Given the description of an element on the screen output the (x, y) to click on. 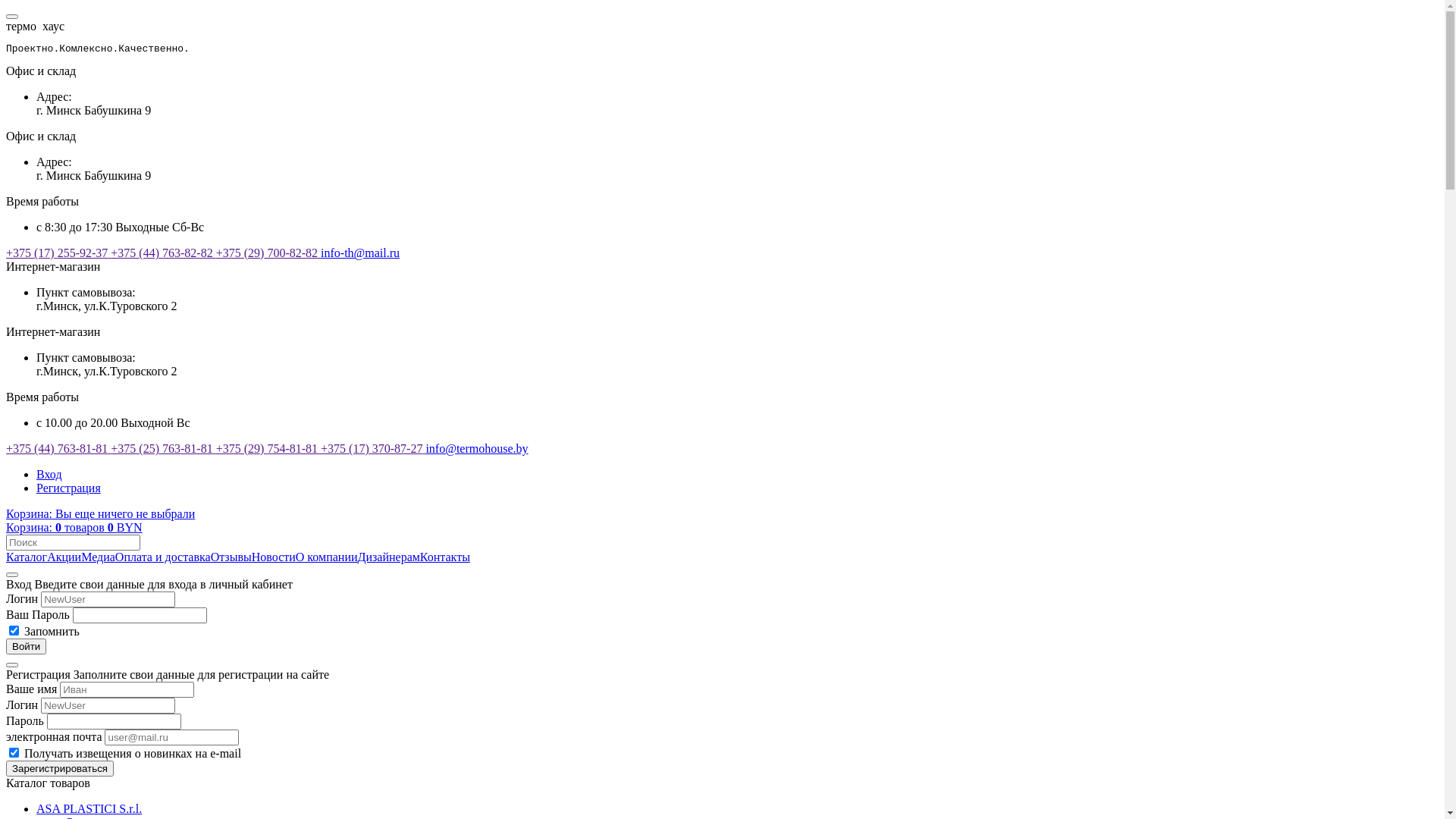
info-th@mail.ru Element type: text (359, 252)
+375 (44) 763-81-81 Element type: text (58, 448)
+375 (17) 370-87-27 Element type: text (372, 448)
+375 (44) 763-82-82 Element type: text (162, 252)
+375 (29) 700-82-82 Element type: text (268, 252)
+375 (25) 763-81-81 Element type: text (162, 448)
ASA PLASTICI S.r.l. Element type: text (88, 808)
+375 (29) 754-81-81 Element type: text (268, 448)
info@termohouse.by Element type: text (476, 448)
+375 (17) 255-92-37 Element type: text (58, 252)
